Given the description of an element on the screen output the (x, y) to click on. 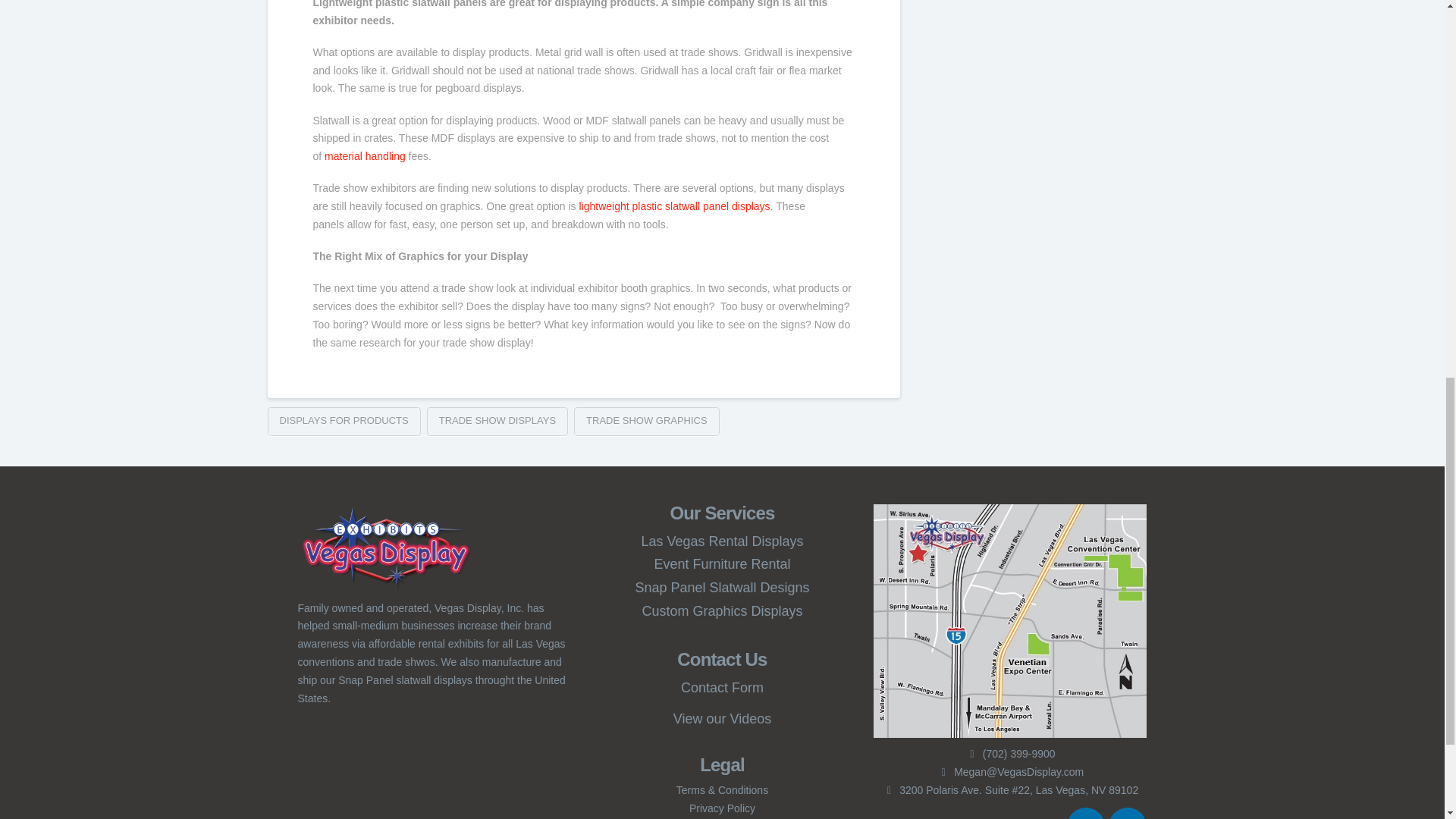
Las Vegas Rental Displays (722, 541)
material handling (365, 155)
TRADE SHOW DISPLAYS (496, 421)
lightweight plastic slatwall panel displays (674, 205)
DISPLAYS FOR PRODUCTS (343, 421)
Event Furniture Rental (722, 564)
TRADE SHOW GRAPHICS (646, 421)
